Given the description of an element on the screen output the (x, y) to click on. 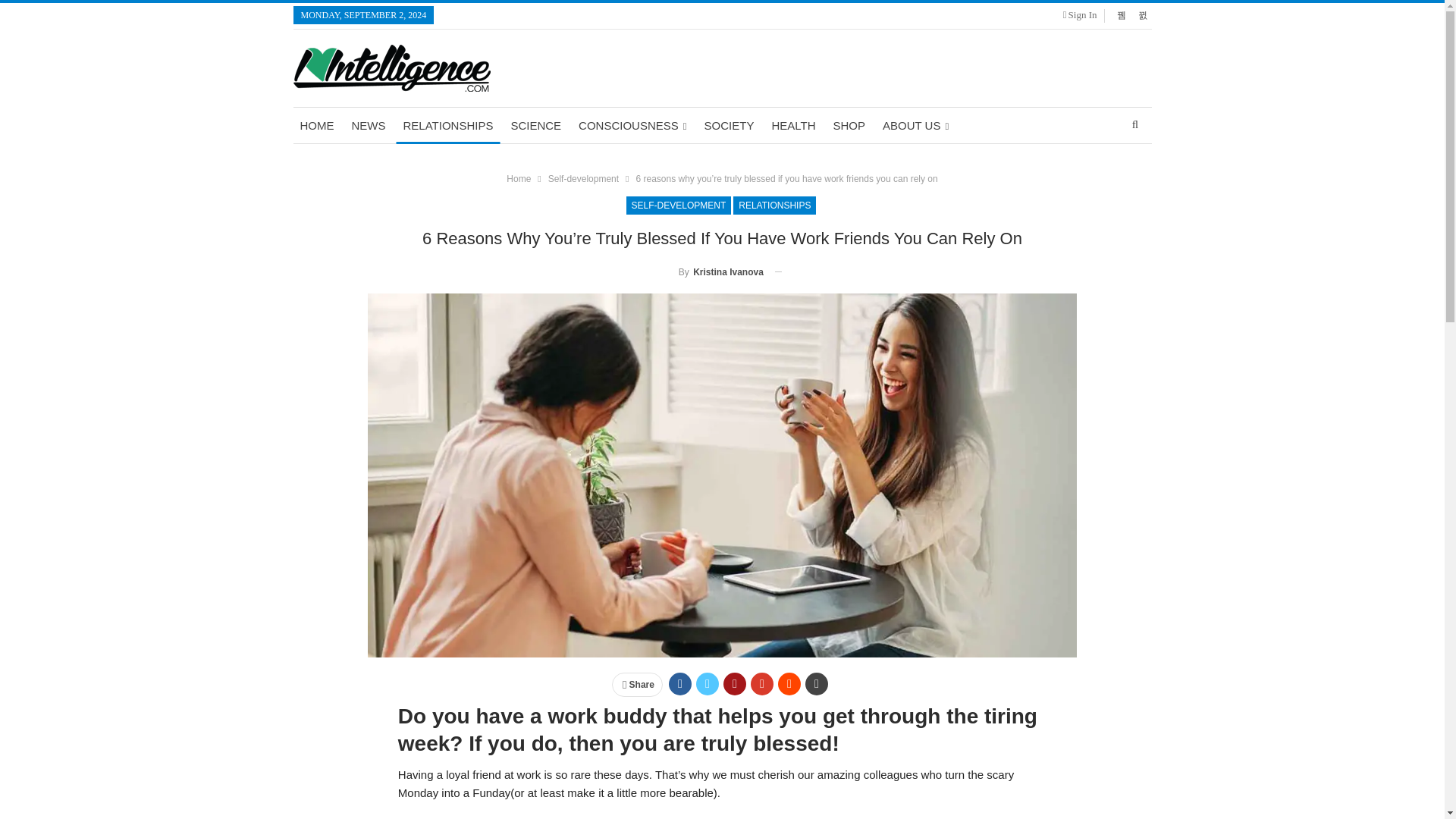
ABOUT US (915, 125)
RELATIONSHIPS (774, 205)
SELF-DEVELOPMENT (679, 205)
Sign In (1082, 14)
HOME (316, 125)
Browse Author Articles (707, 271)
Self-development (583, 178)
NEWS (367, 125)
CONSCIOUSNESS (632, 125)
SHOP (849, 125)
